Given the description of an element on the screen output the (x, y) to click on. 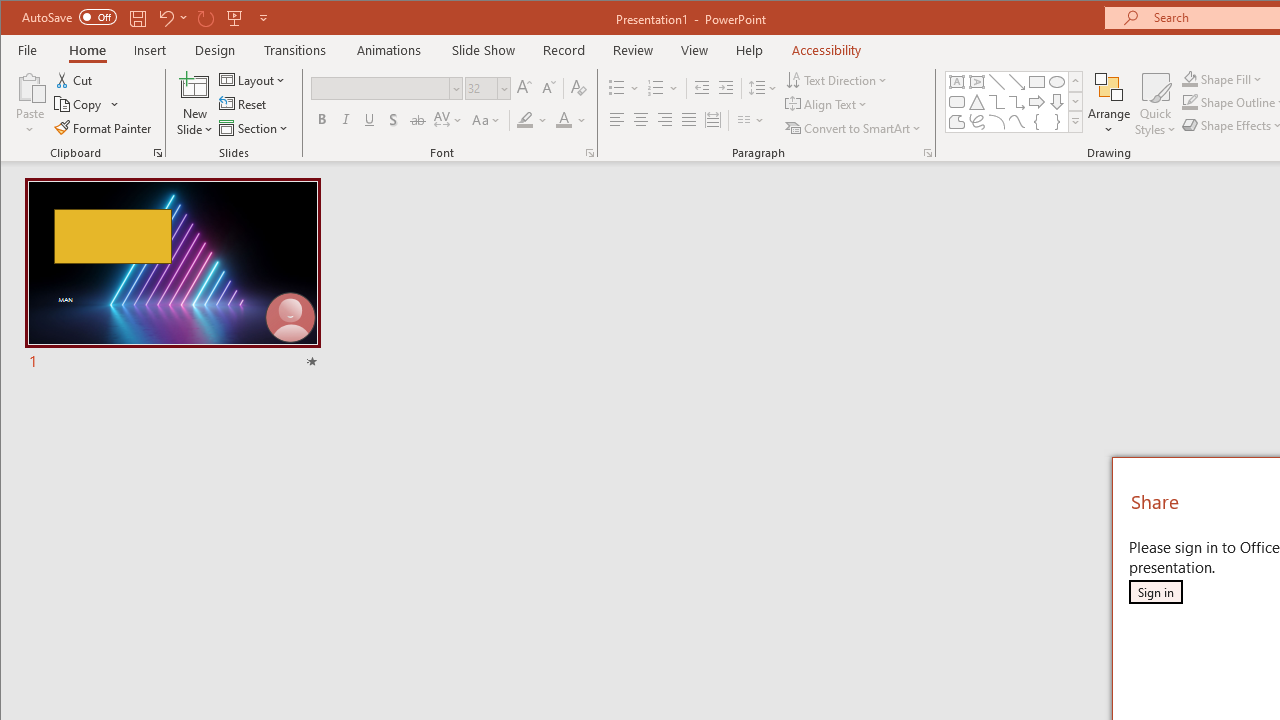
Shadow (393, 119)
Center (640, 119)
Paragraph... (927, 152)
Oval (1057, 82)
Decrease Font Size (548, 88)
AutomationID: ShapesInsertGallery (1014, 102)
Decrease Indent (701, 88)
Rectangle: Rounded Corners (956, 102)
Text Direction (837, 80)
